Given the description of an element on the screen output the (x, y) to click on. 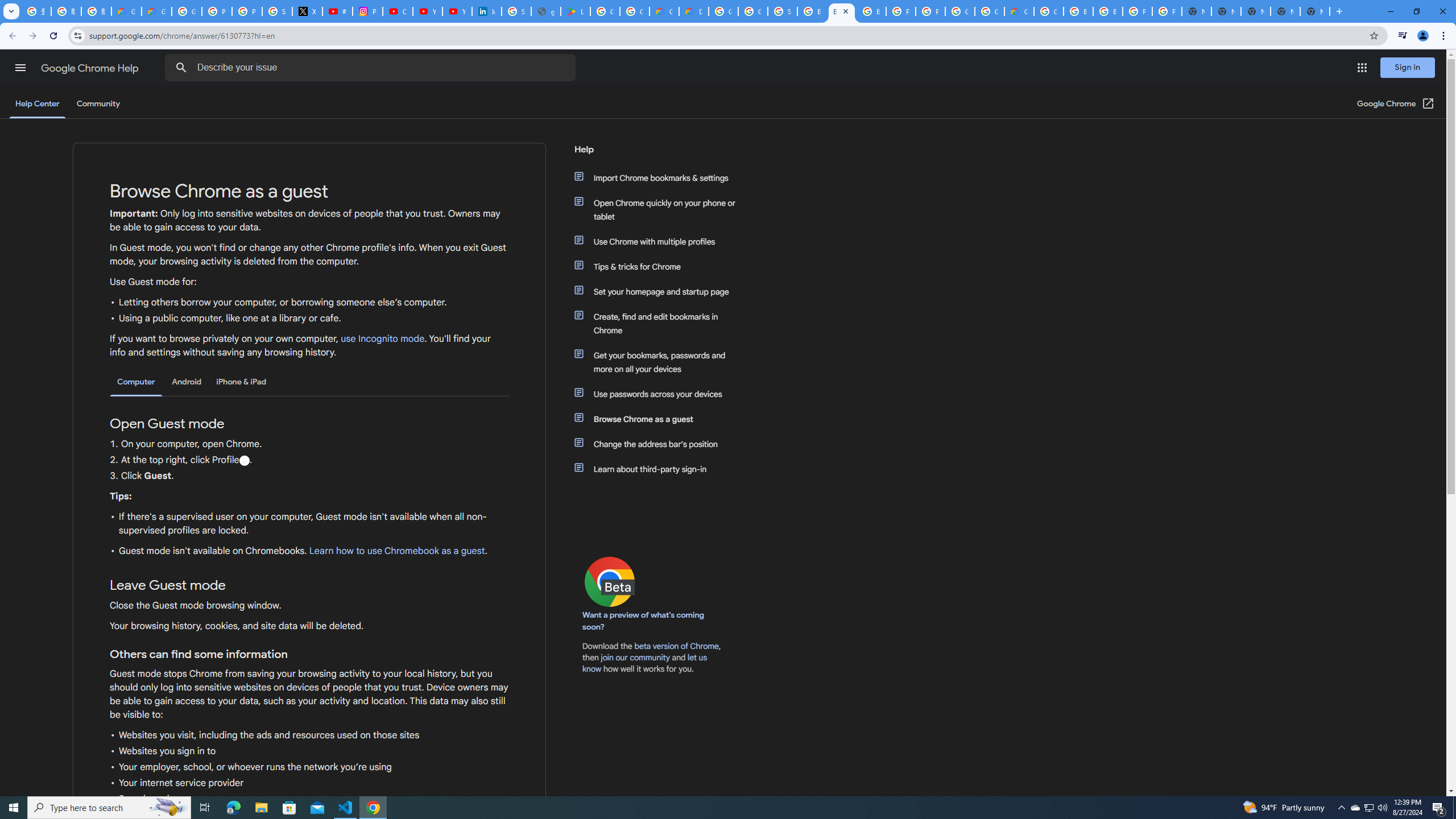
Search Help Center (181, 67)
Google Cloud Platform (723, 11)
Tips & tricks for Chrome (661, 266)
Sign in - Google Accounts (277, 11)
Minimize (1390, 11)
Control your music, videos, and more (1402, 35)
Privacy Help Center - Policies Help (216, 11)
Use Chrome with multiple profiles (661, 241)
beta version of Chrome (676, 646)
Chrome Beta logo (609, 581)
Google Chrome (Open in a new window) (1395, 103)
